Given the description of an element on the screen output the (x, y) to click on. 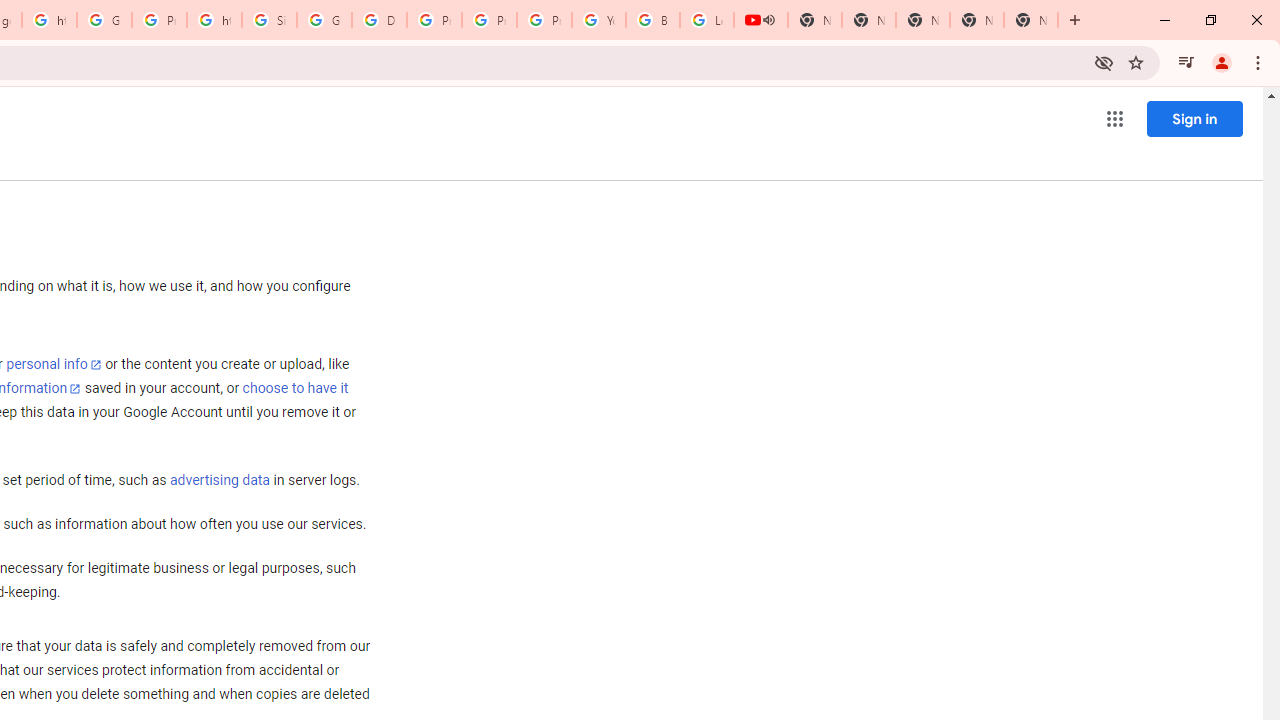
Sign in - Google Accounts (268, 20)
Browse Chrome as a guest - Computer - Google Chrome Help (652, 20)
personal info (54, 364)
Mute tab (768, 20)
https://scholar.google.com/ (213, 20)
